Given the description of an element on the screen output the (x, y) to click on. 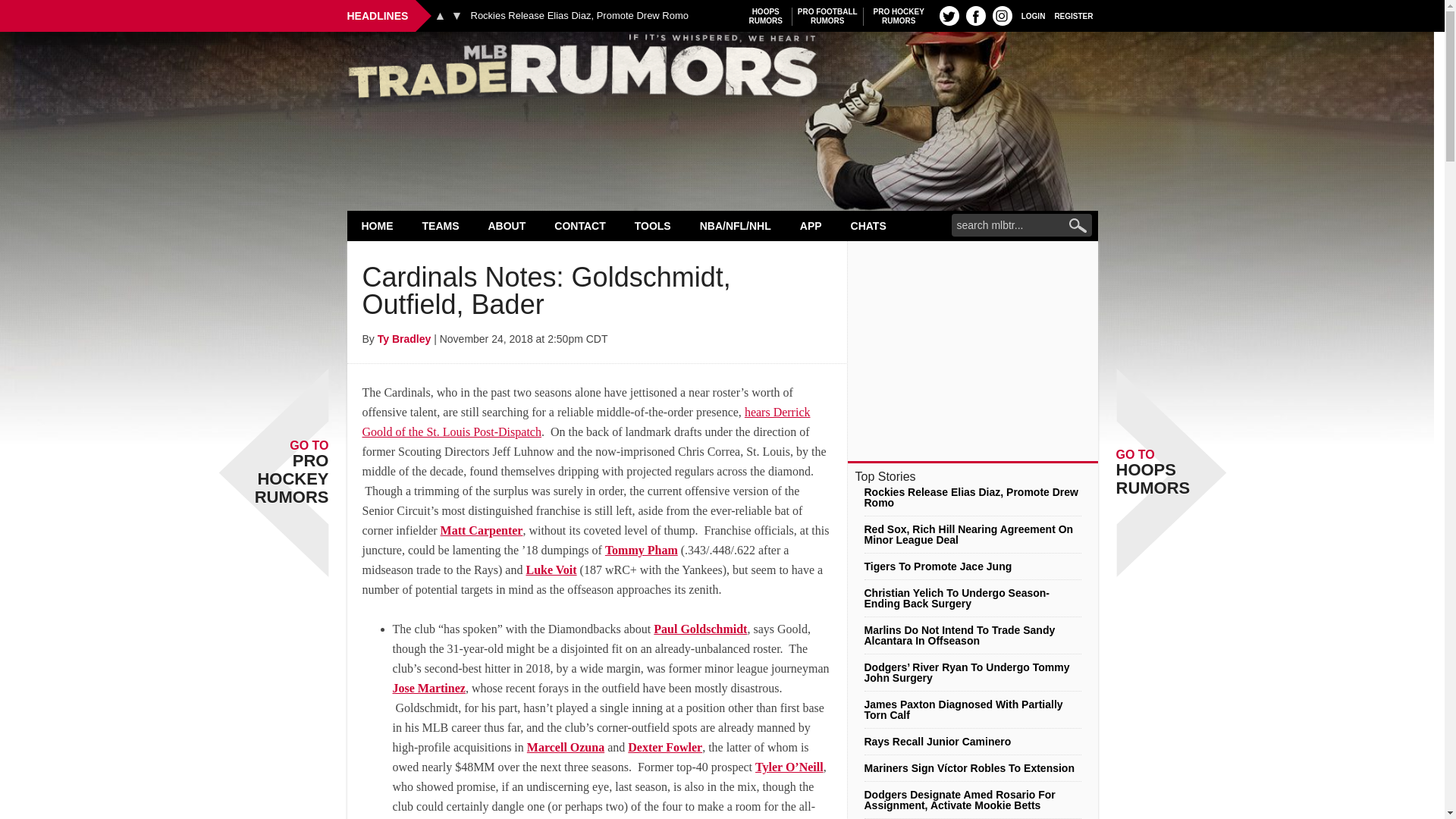
Next (456, 15)
Rockies Release Elias Diaz, Promote Drew Romo (579, 15)
TEAMS (440, 225)
Search (898, 16)
Twitter profile (1073, 15)
Instagram profile (949, 15)
HOME (1001, 15)
